Given the description of an element on the screen output the (x, y) to click on. 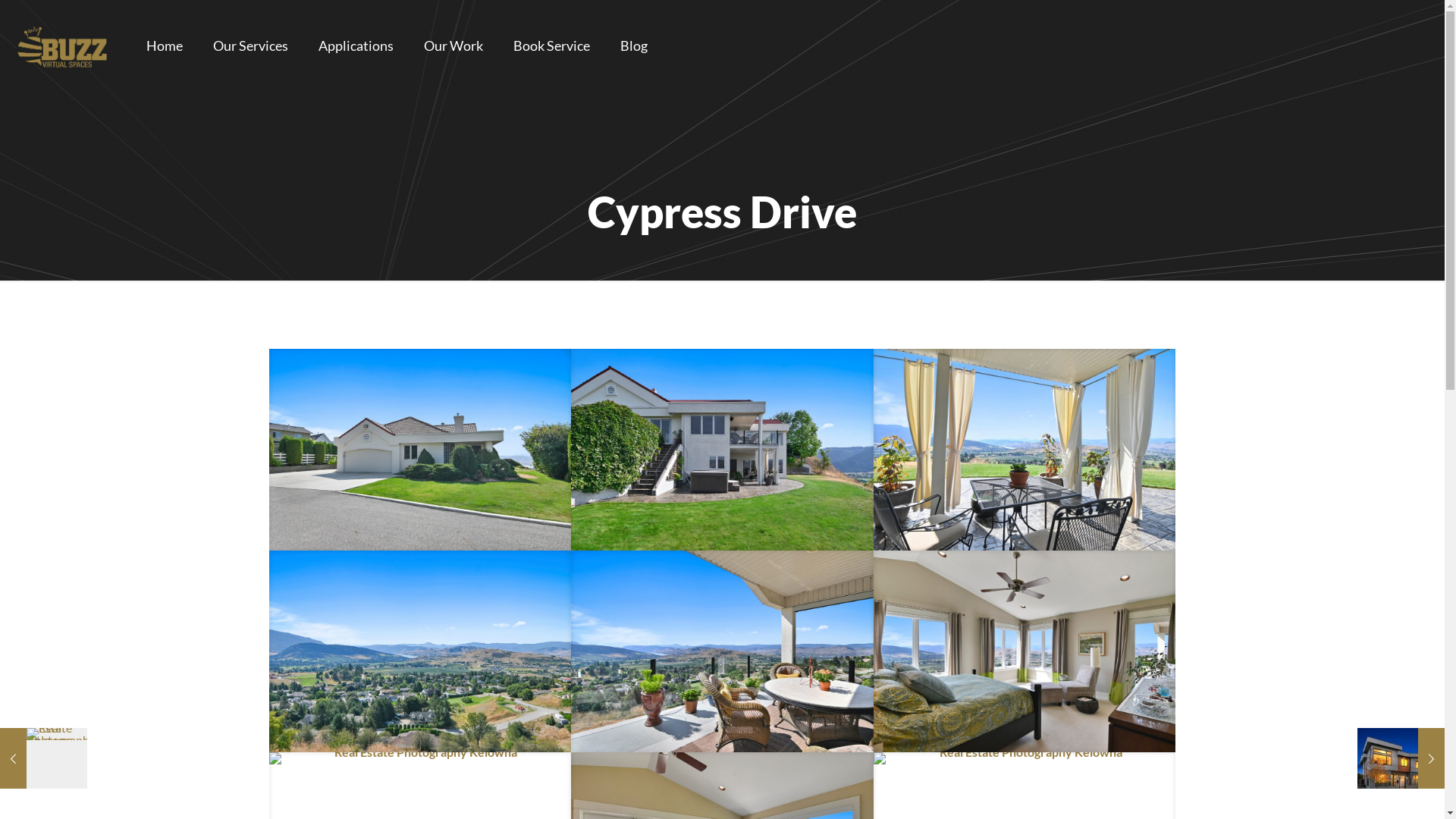
Our Services Element type: text (250, 45)
Our Work Element type: text (453, 45)
Blog Element type: text (633, 45)
Applications Element type: text (355, 45)
Book Service Element type: text (551, 45)
Home Element type: text (164, 45)
BUZZ Virtual Spaces Element type: hover (61, 45)
